Given the description of an element on the screen output the (x, y) to click on. 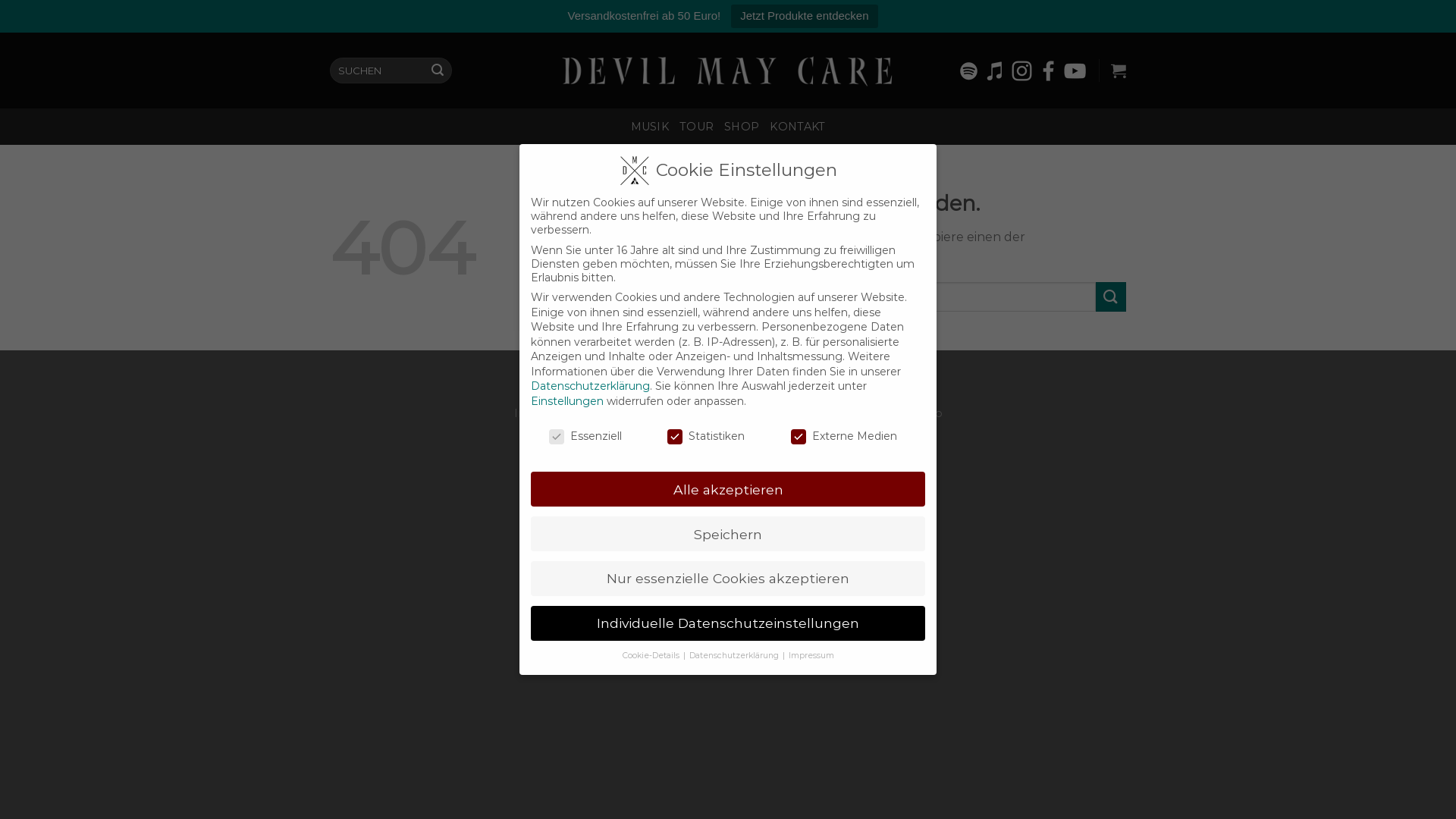
SHOP Element type: text (741, 126)
Nur essenzielle Cookies akzeptieren Element type: text (727, 578)
Versandinformationen Element type: text (785, 413)
Impressum Element type: text (811, 655)
Alle akzeptieren Element type: text (727, 488)
Warenkorb Element type: hover (1118, 70)
TOUR Element type: text (696, 126)
Jetzt Produkte entdecken Element type: text (804, 16)
Cookie-Details Element type: text (650, 655)
Suche Element type: text (438, 70)
Speichern Element type: text (727, 533)
Beach Cleanup Element type: text (900, 413)
Einstellungen Element type: text (566, 400)
MUSIK Element type: text (649, 126)
Impressum Element type: text (546, 413)
Individuelle Datenschutzeinstellungen Element type: text (727, 622)
KONTAKT Element type: text (797, 126)
